Given the description of an element on the screen output the (x, y) to click on. 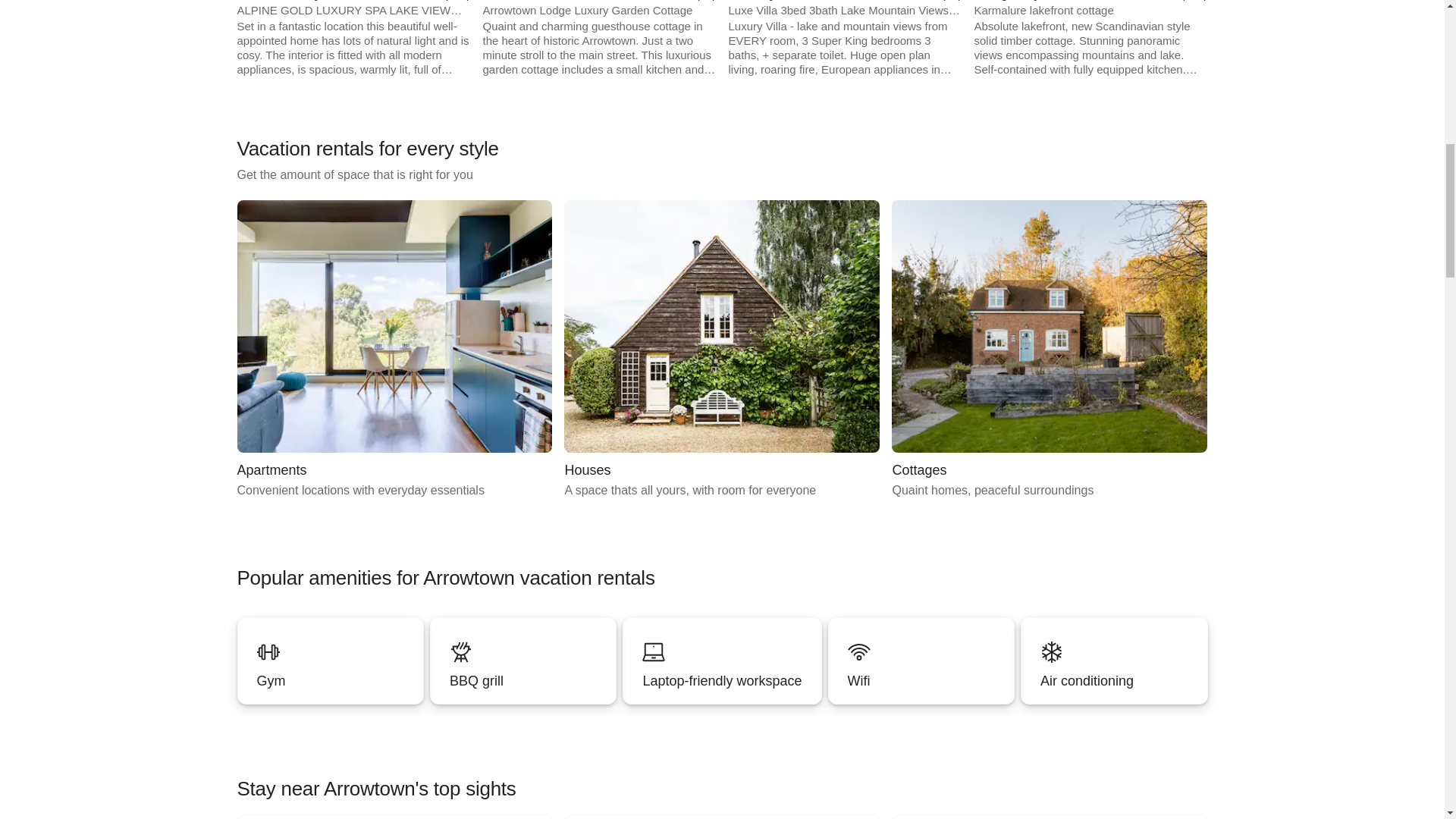
Air conditioning (393, 349)
Gym (1113, 660)
Laptop-friendly workspace (329, 680)
Laptop-friendly workspace (721, 349)
Laptop-friendly workspace (722, 680)
BBQ grill (722, 660)
BBQ grill (722, 660)
Wifi (522, 660)
Wifi (522, 660)
Air conditioning (921, 660)
Gym (920, 680)
Air conditioning (1114, 680)
